Given the description of an element on the screen output the (x, y) to click on. 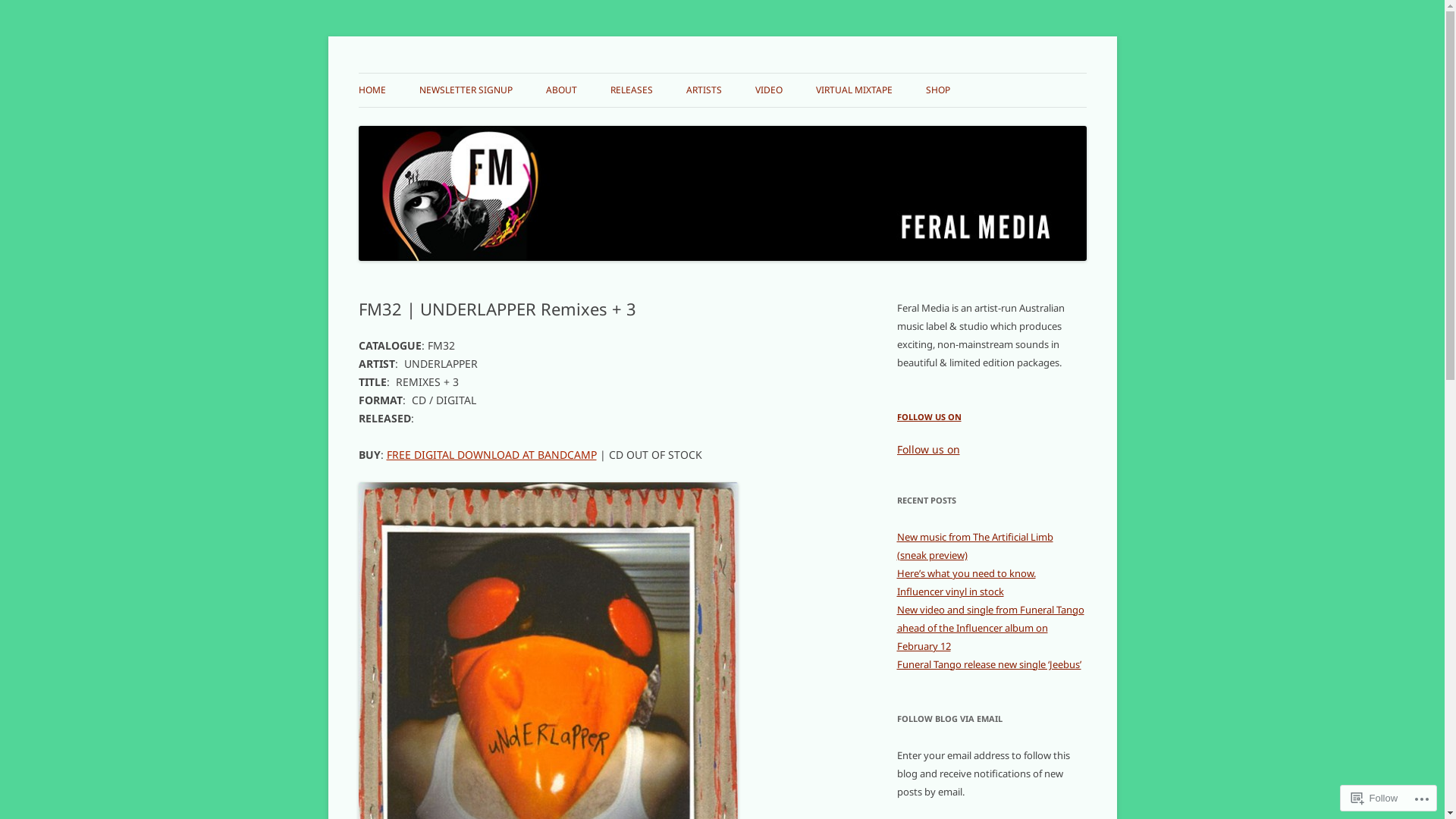
Skip to content Element type: text (721, 72)
Follow us on Element type: text (927, 449)
FOLLOW US ON Element type: text (928, 416)
HOME Element type: text (371, 89)
FREE DIGITAL DOWNLOAD AT BANDCAMP Element type: text (491, 454)
ARTISTS Element type: text (703, 89)
VIRTUAL MIXTAPE Element type: text (853, 89)
RELEASES Element type: text (630, 89)
Follow Element type: text (1374, 797)
ABOUT Element type: text (561, 89)
SHOP Element type: text (937, 89)
VIDEO Element type: text (768, 89)
NEWSLETTER SIGNUP Element type: text (464, 89)
Influencer vinyl in stock Element type: text (949, 591)
Feral Media Element type: text (414, 72)
New music from The Artificial Limb (sneak preview) Element type: text (974, 545)
